Given the description of an element on the screen output the (x, y) to click on. 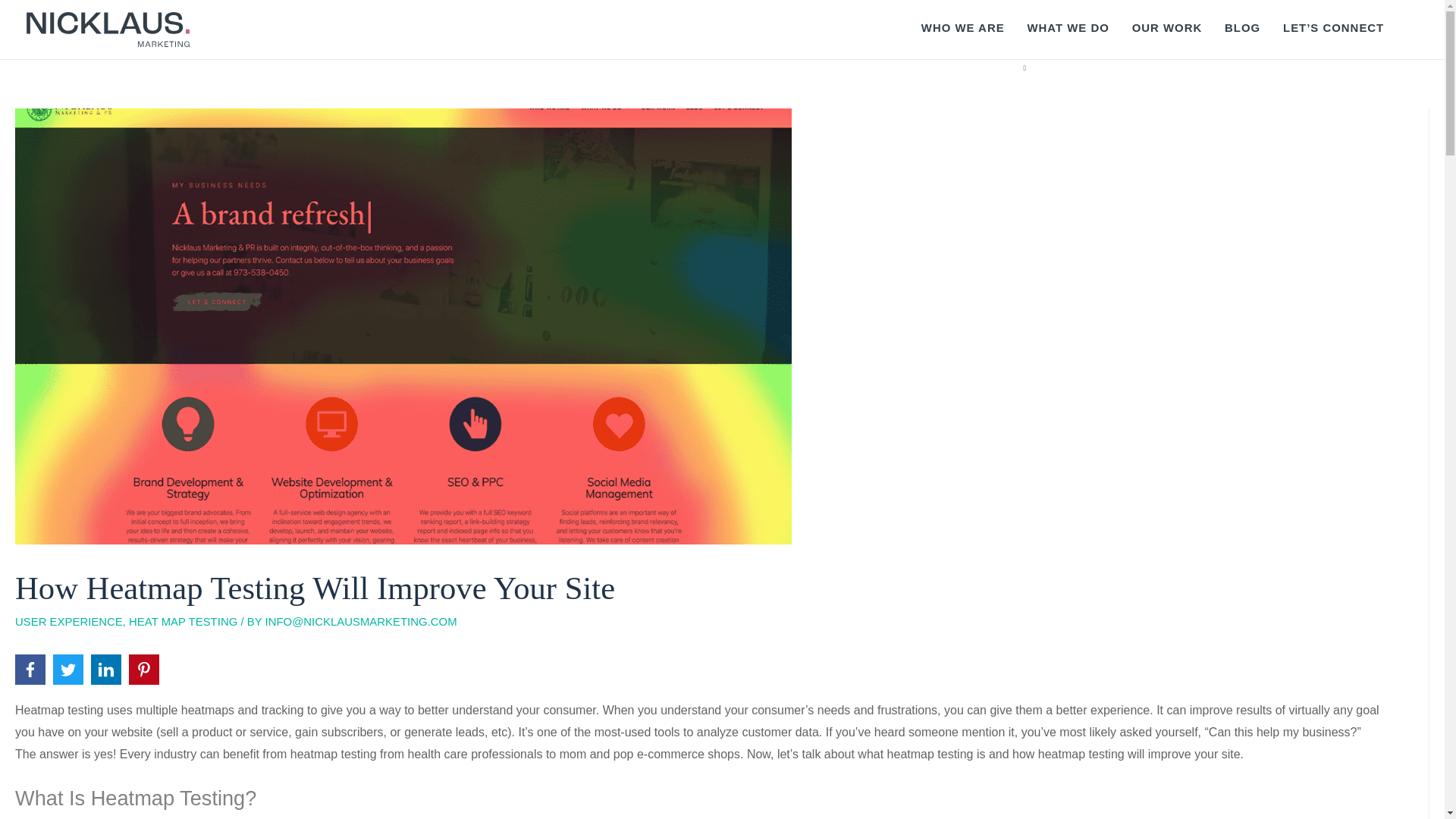
BLOG (1241, 27)
WHO WE ARE (963, 27)
OUR WORK (1166, 27)
HEAT MAP TESTING (183, 621)
USER EXPERIENCE (68, 621)
WHAT WE DO (1068, 27)
